Given the description of an element on the screen output the (x, y) to click on. 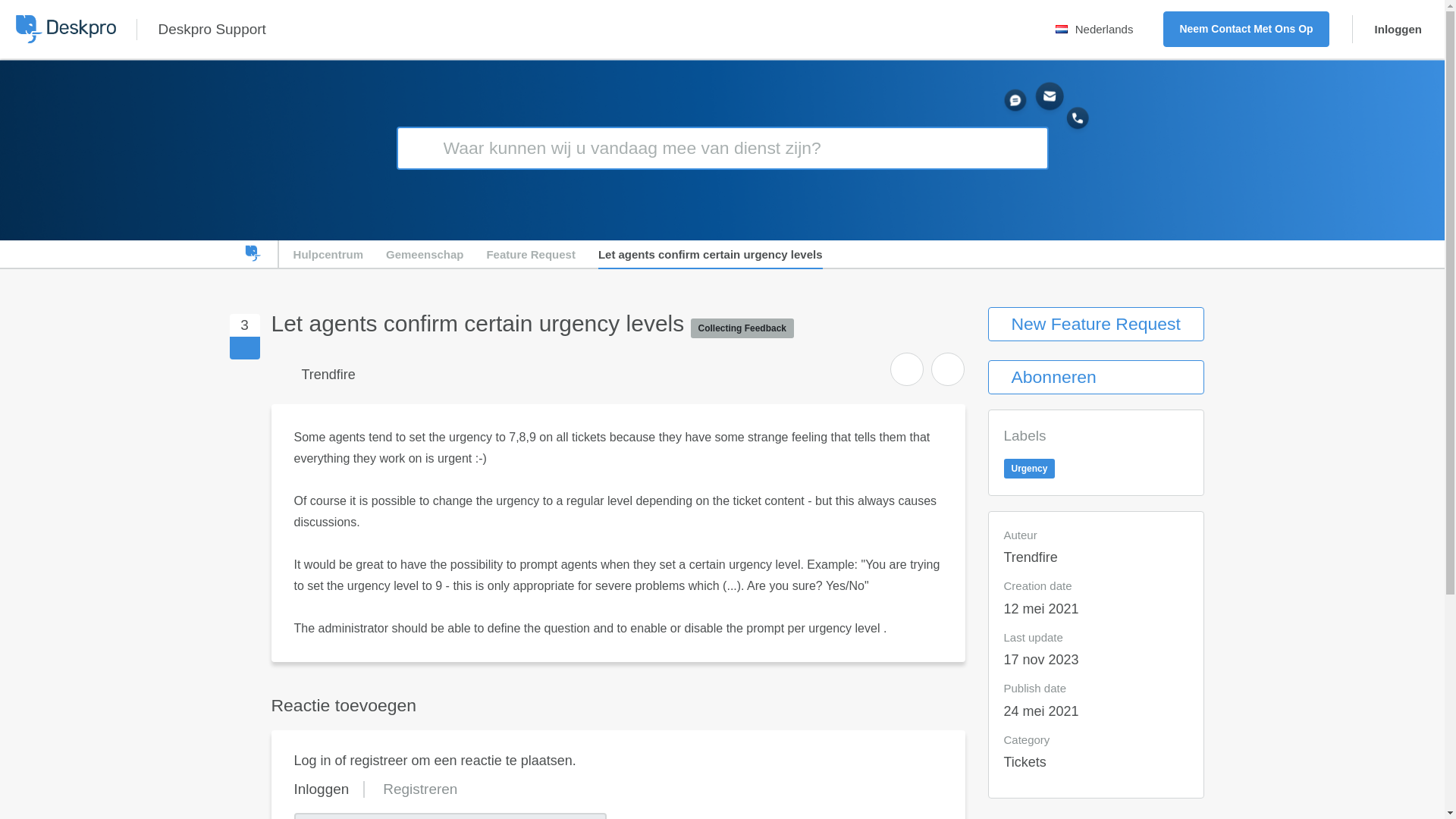
Nederlands (1098, 29)
Deskpro Support (210, 29)
